Given the description of an element on the screen output the (x, y) to click on. 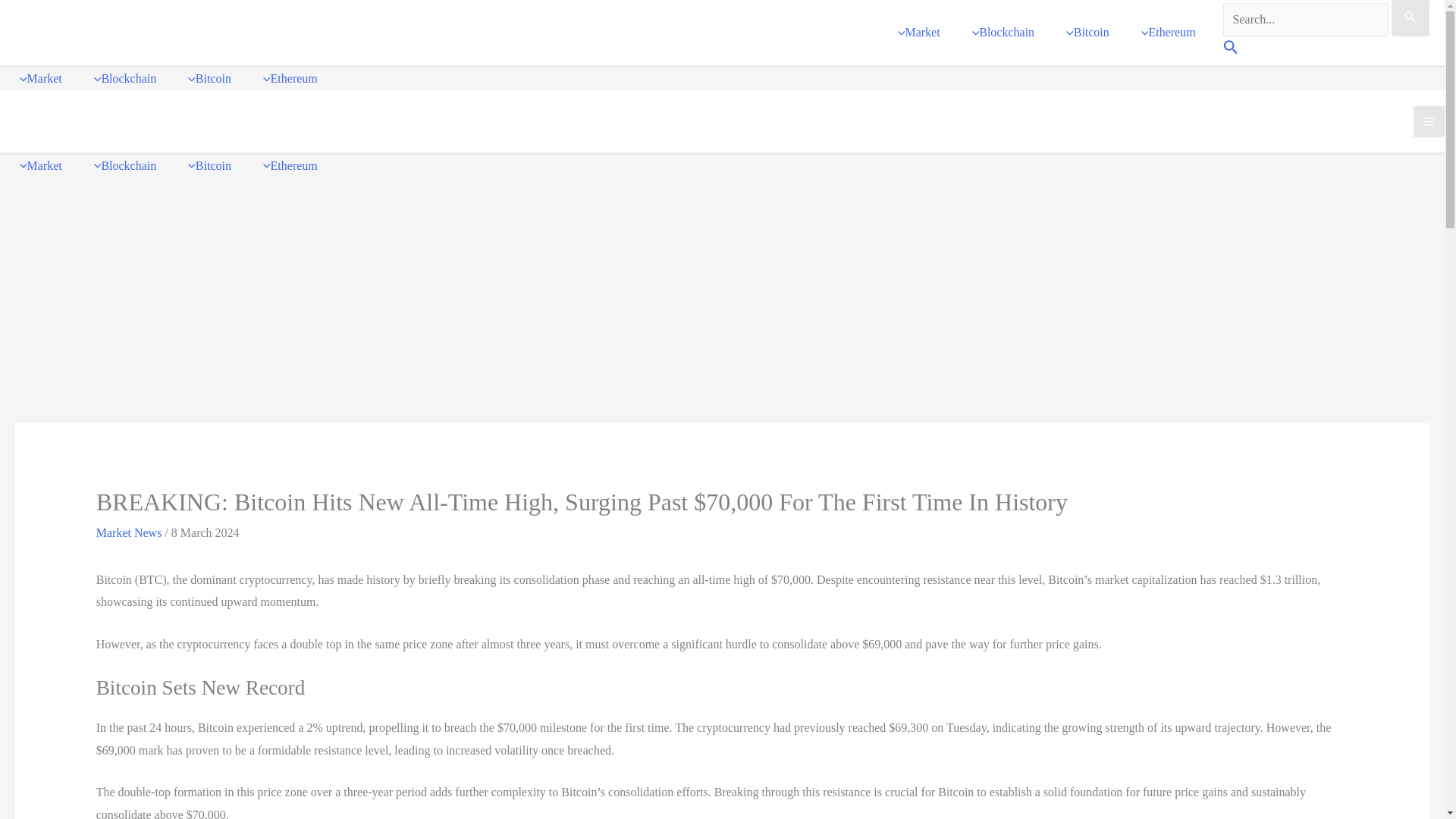
Ethereum (1164, 32)
Ethereum (286, 165)
Market (37, 78)
Bitcoin (205, 165)
Ethereum (286, 78)
Blockchain (999, 32)
Market News (128, 532)
Blockchain (121, 78)
Bitcoin (205, 78)
Market (914, 32)
Market (37, 165)
Search (1231, 49)
Bitcoin (1083, 32)
Blockchain (121, 165)
